Given the description of an element on the screen output the (x, y) to click on. 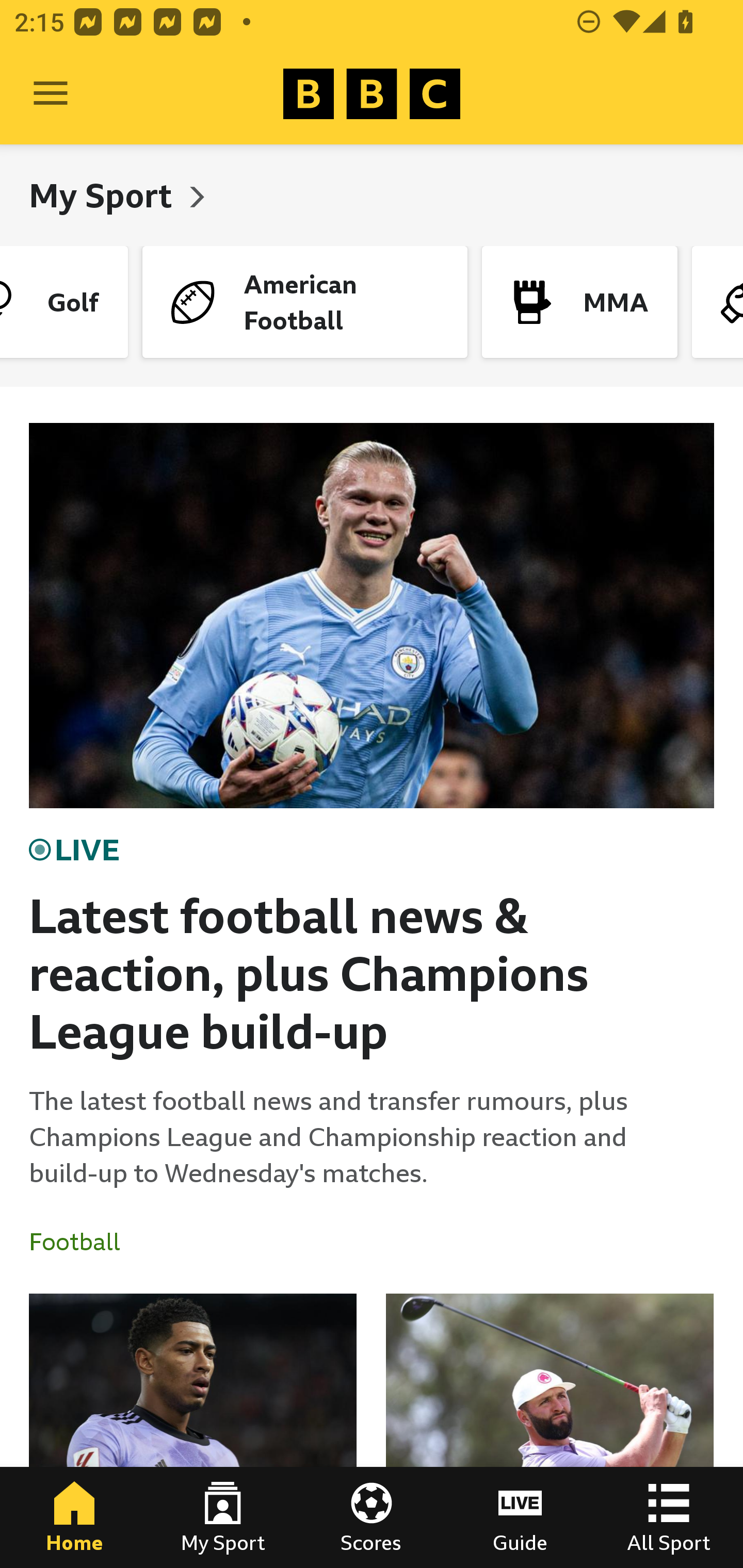
Open Menu (50, 93)
My Sport (104, 195)
Football In the section Football (81, 1241)
Real midfielder Bellingham banned for two games (192, 1430)
My Sport (222, 1517)
Scores (371, 1517)
Guide (519, 1517)
All Sport (668, 1517)
